Given the description of an element on the screen output the (x, y) to click on. 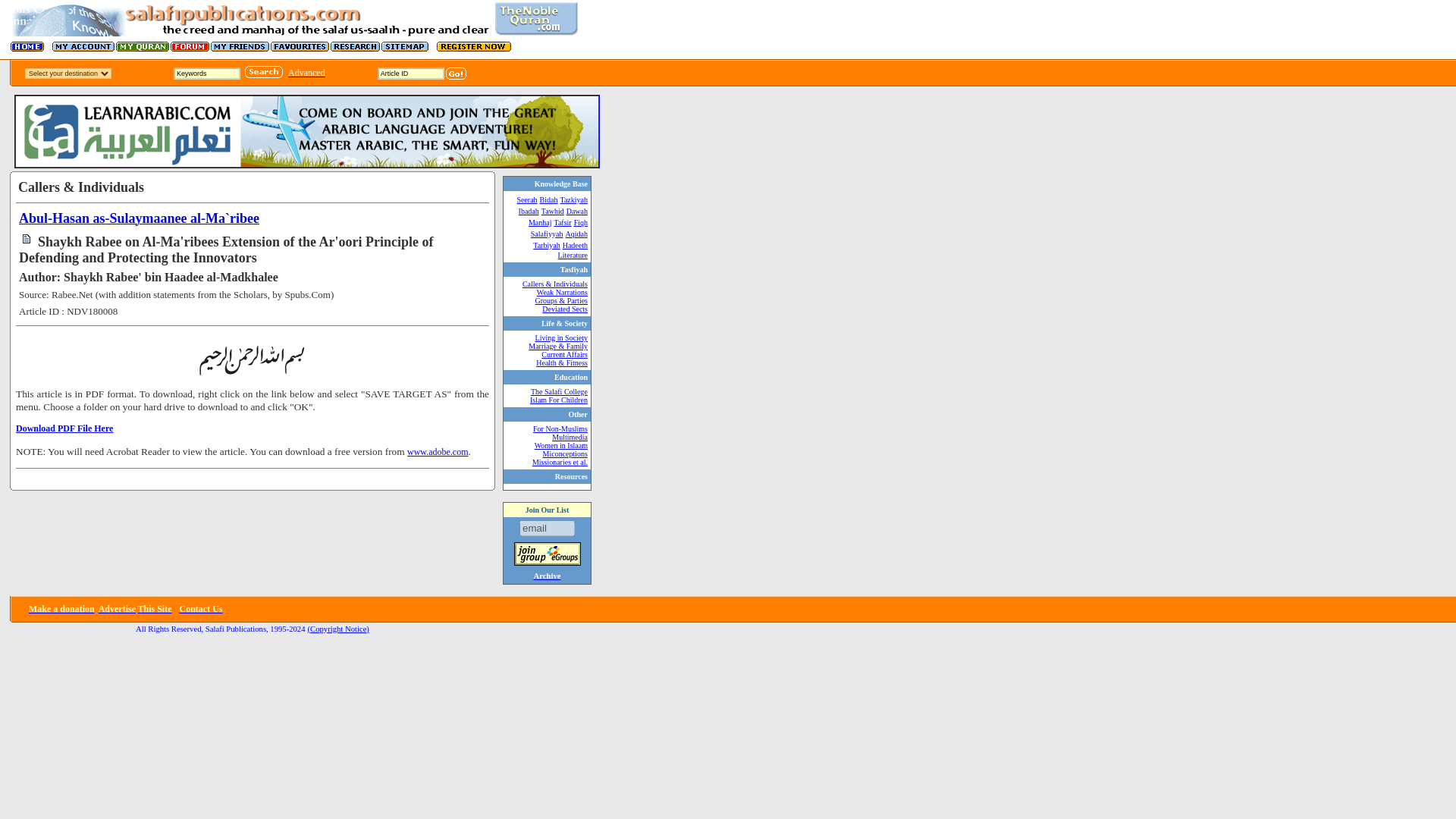
Advanced (306, 72)
Aqidah (577, 233)
Download PDF File Here (64, 428)
An Analysis of Past and Contemporary Sects (564, 308)
email (547, 528)
How to Make the Call to Islam and Useful Resources (577, 211)
The study of the Sciences of Hadeeth (572, 249)
Purification of the Heart and Soul (573, 199)
